Given the description of an element on the screen output the (x, y) to click on. 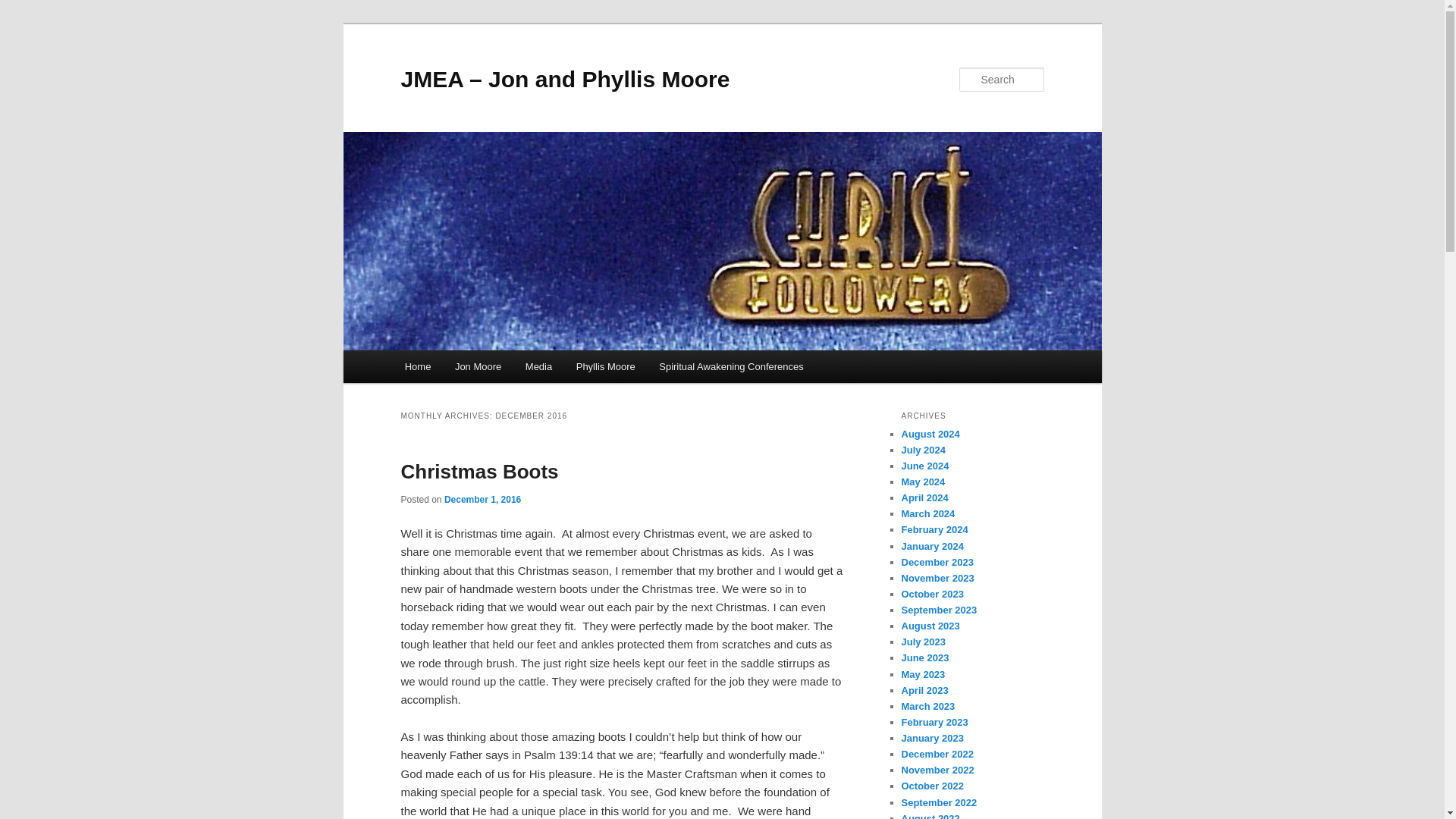
November 2023 (937, 577)
May 2024 (922, 481)
June 2024 (925, 465)
February 2024 (934, 529)
Search (24, 8)
Spiritual Awakening Conferences (731, 366)
December 1, 2016 (482, 499)
6:30 am (482, 499)
March 2024 (928, 513)
June 2023 (925, 657)
